Given the description of an element on the screen output the (x, y) to click on. 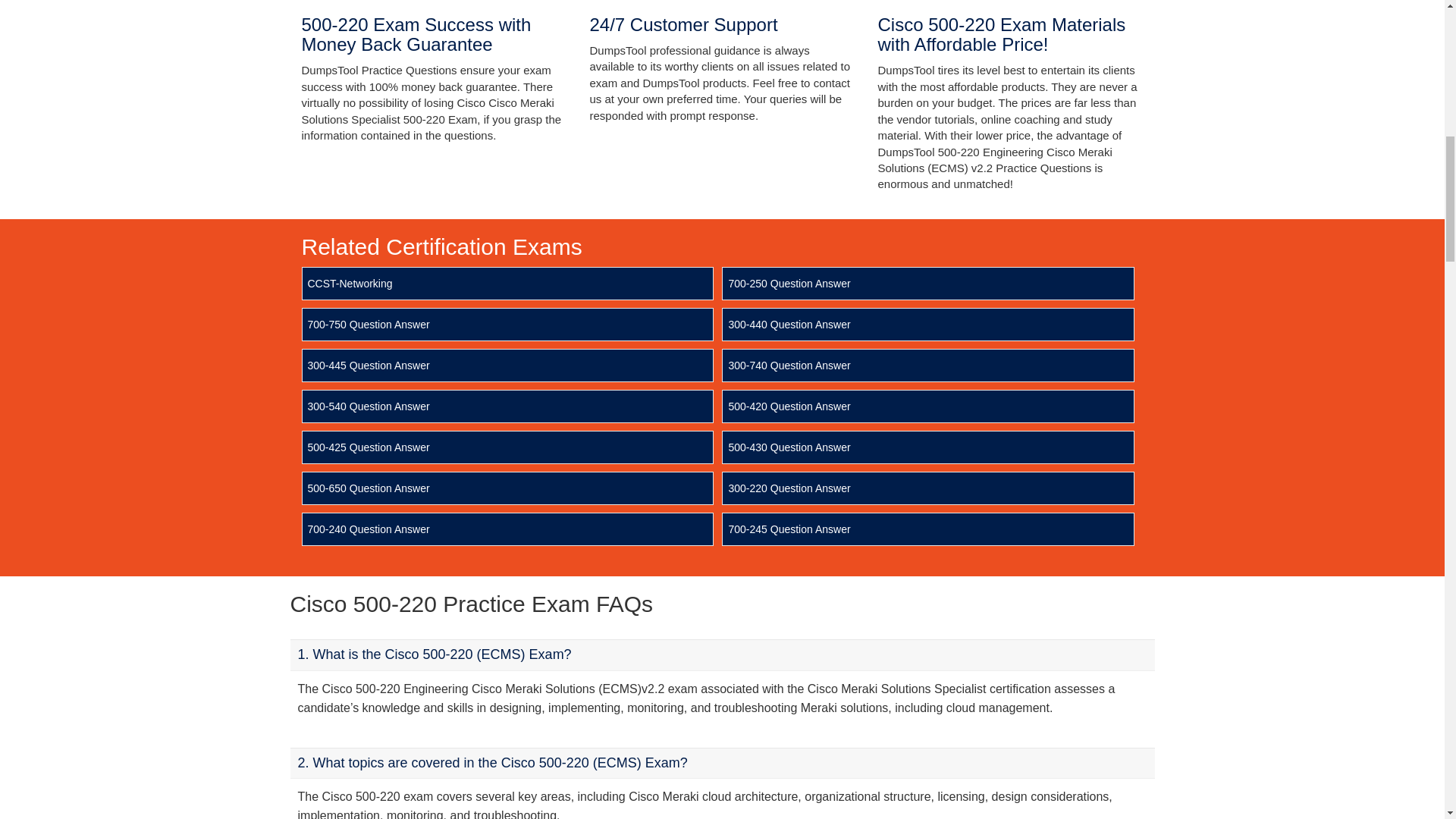
700-250 Question Answer (789, 283)
500-430 (789, 447)
300-740 Question Answer (789, 365)
500-420 Question Answer (789, 406)
500-420 (789, 406)
300-445 Question Answer (368, 365)
700-245 (789, 529)
300-220 (789, 488)
700-750 Question Answer (368, 324)
300-445 (368, 365)
CCST-Networking (350, 283)
500-425 Question Answer (368, 447)
700-245 Question Answer (789, 529)
300-220 Question Answer (789, 488)
300-440 (789, 324)
